Given the description of an element on the screen output the (x, y) to click on. 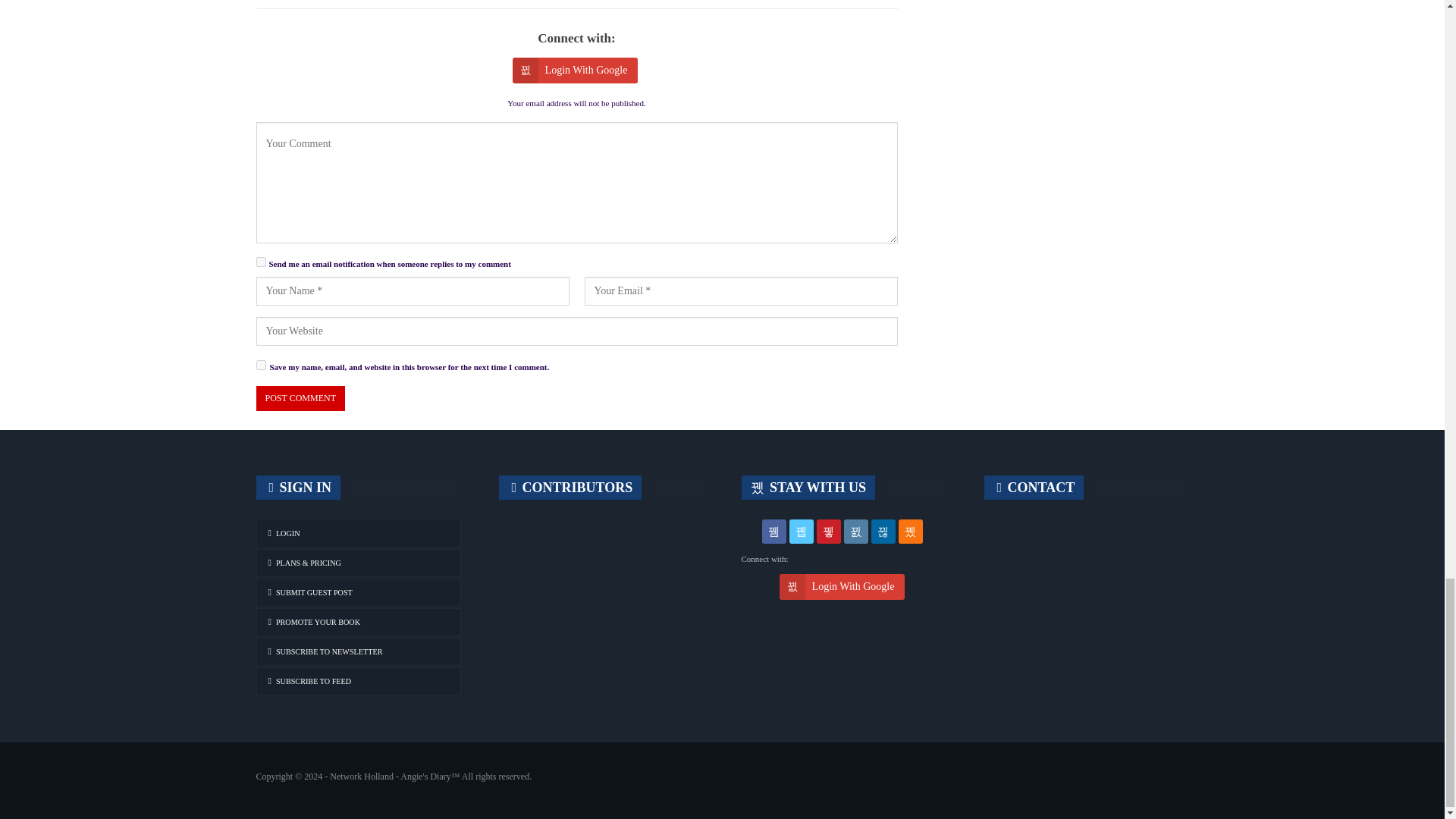
1 (261, 261)
yes (261, 365)
Post Comment (300, 398)
